Given the description of an element on the screen output the (x, y) to click on. 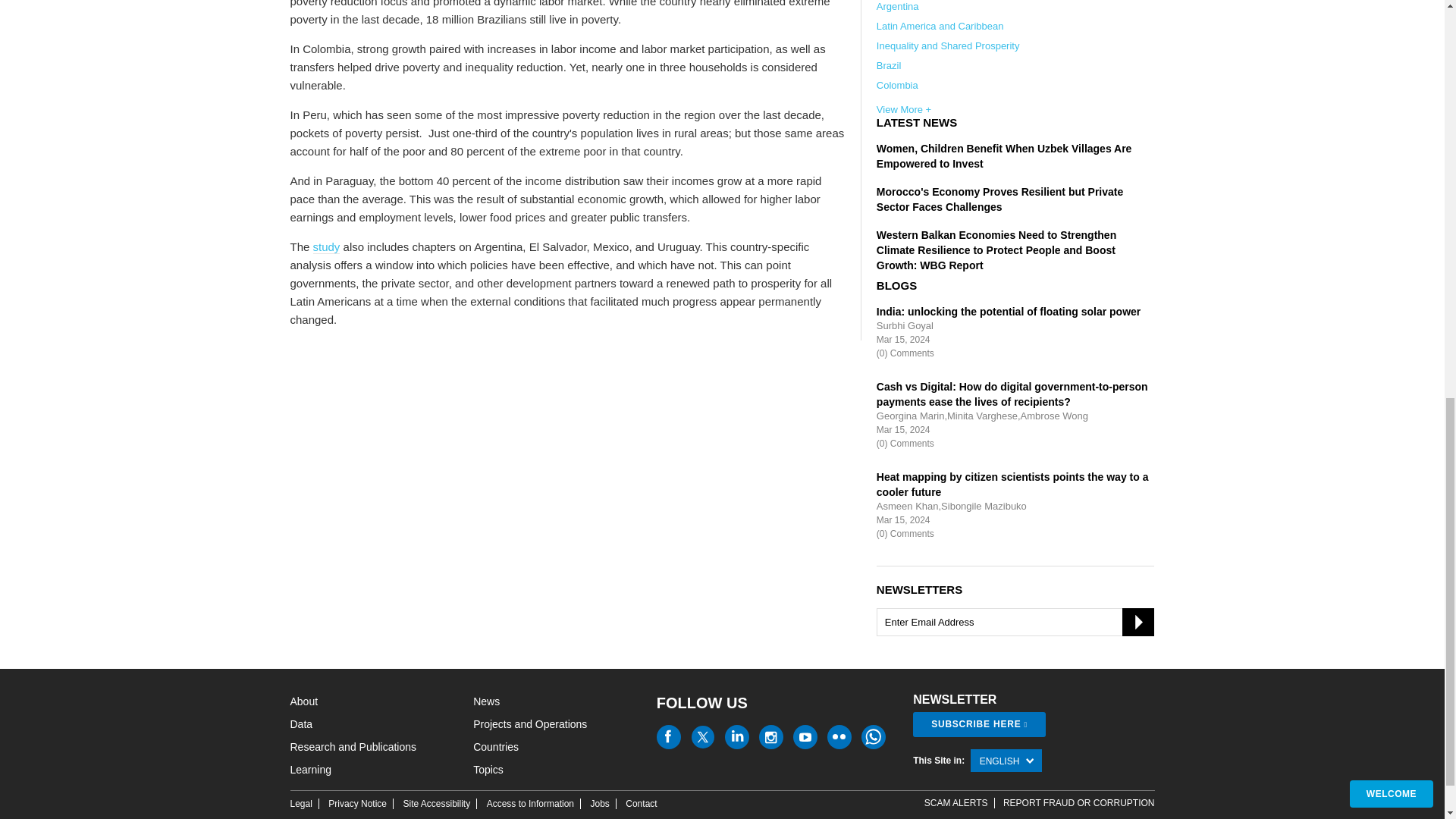
Enter Email Address (1015, 622)
Enter Email Address (1015, 622)
